Given the description of an element on the screen output the (x, y) to click on. 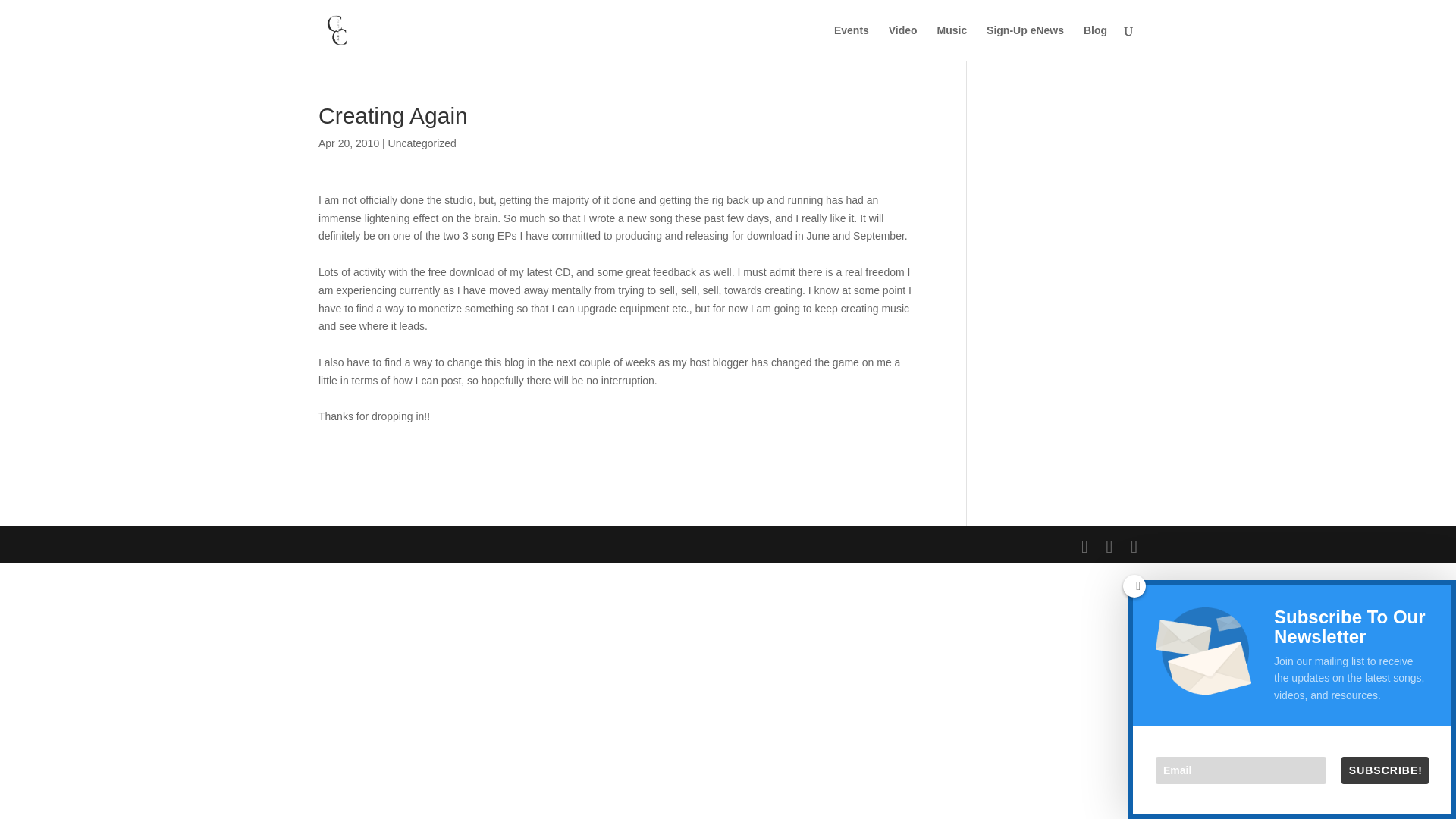
Uncategorized (422, 143)
Events (851, 42)
Blog (1094, 42)
Music (952, 42)
Video (902, 42)
Sign-Up eNews (1025, 42)
